Given the description of an element on the screen output the (x, y) to click on. 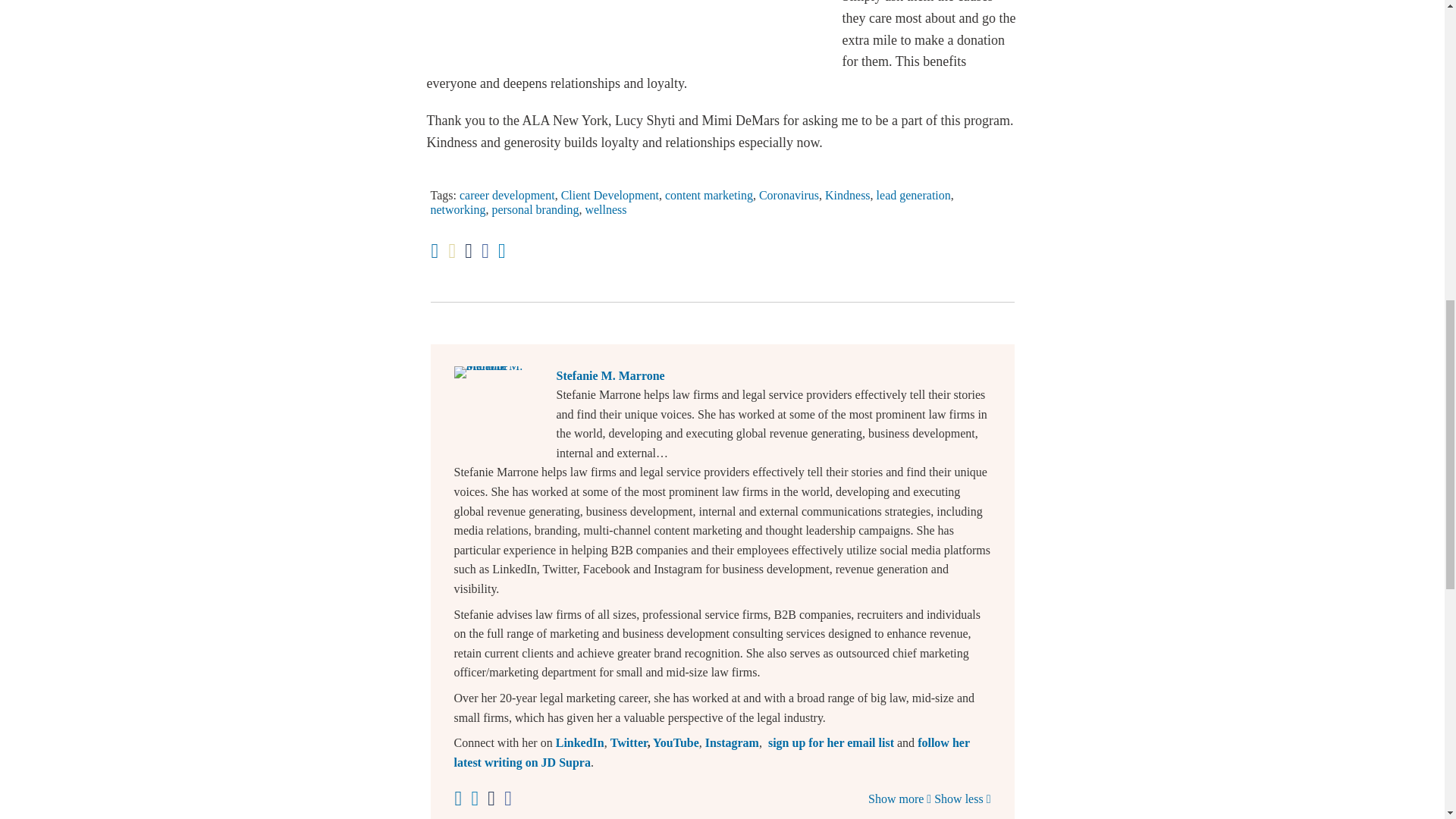
content marketing (708, 195)
wellness (605, 209)
Coronavirus (788, 195)
personal branding (535, 209)
networking (458, 209)
career development (507, 195)
lead generation (913, 195)
Kindness (847, 195)
Client Development (609, 195)
